Given the description of an element on the screen output the (x, y) to click on. 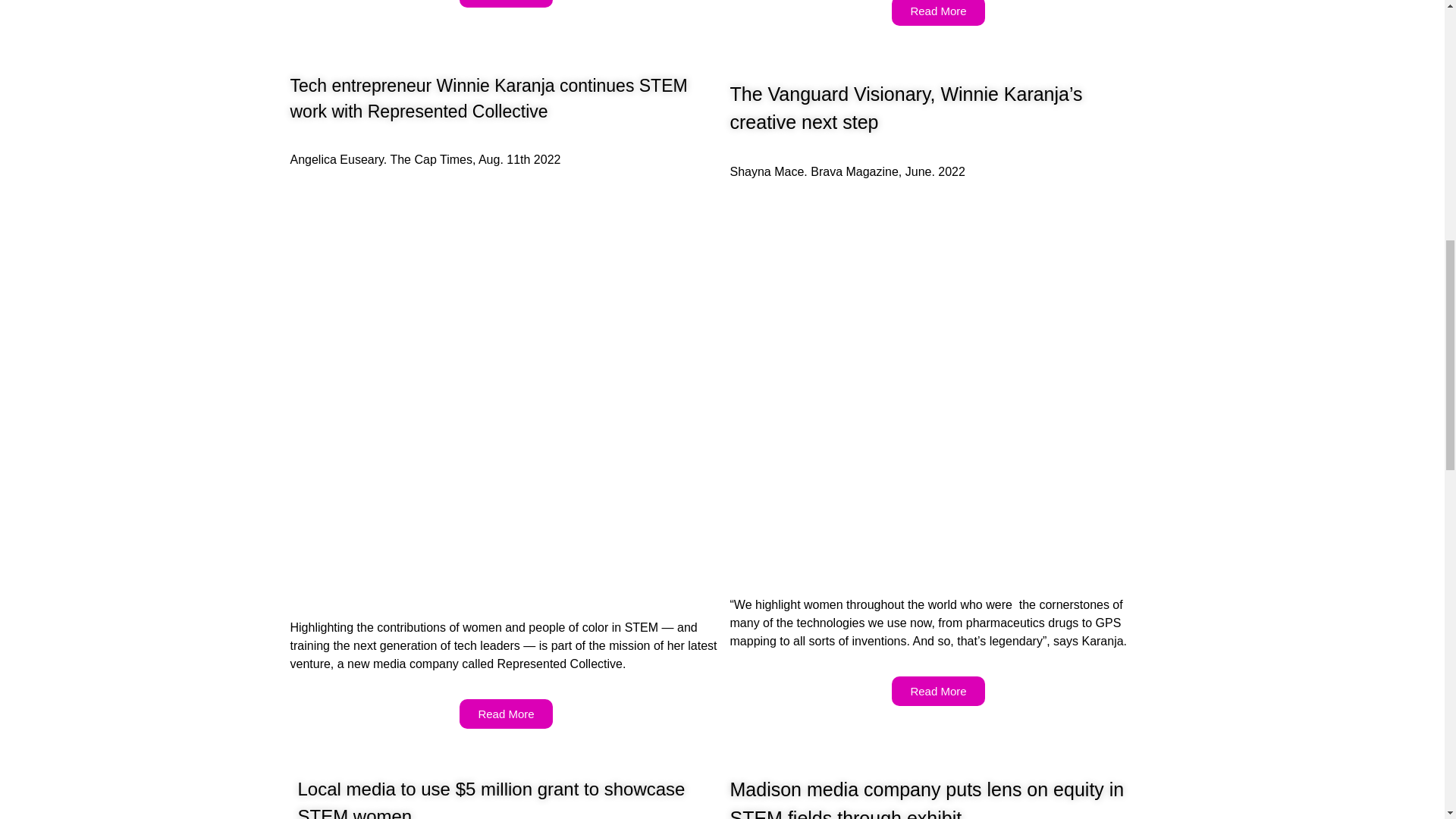
Read More (505, 713)
Read More (937, 12)
Read More (937, 690)
Read More (505, 3)
